Given the description of an element on the screen output the (x, y) to click on. 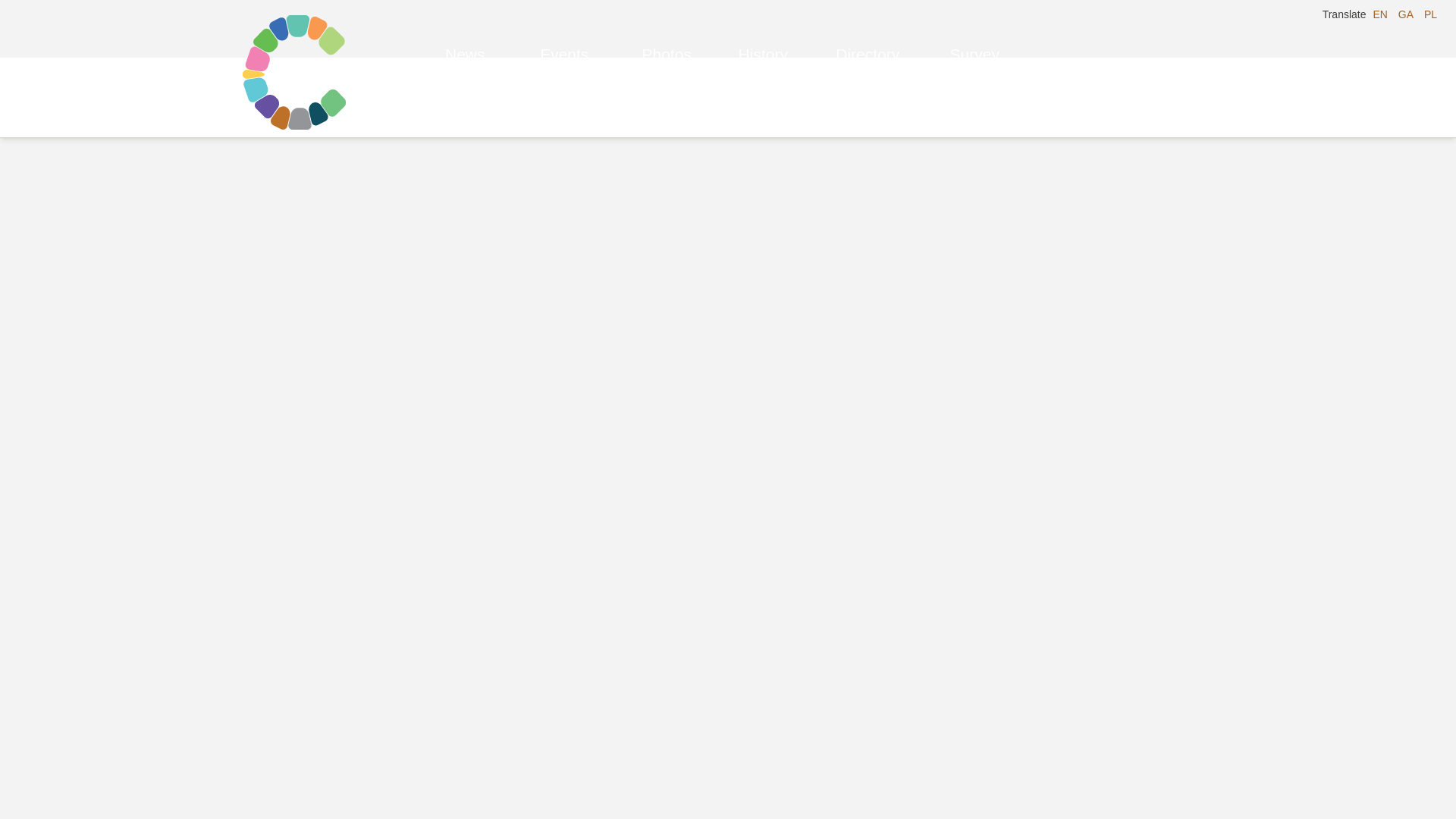
History (762, 38)
EN (1380, 14)
Translate to Gaeilge (1405, 14)
Events (564, 38)
Survey (974, 38)
News (465, 38)
Directory (867, 38)
PL (1430, 14)
Hub (974, 38)
Events (564, 38)
